Given the description of an element on the screen output the (x, y) to click on. 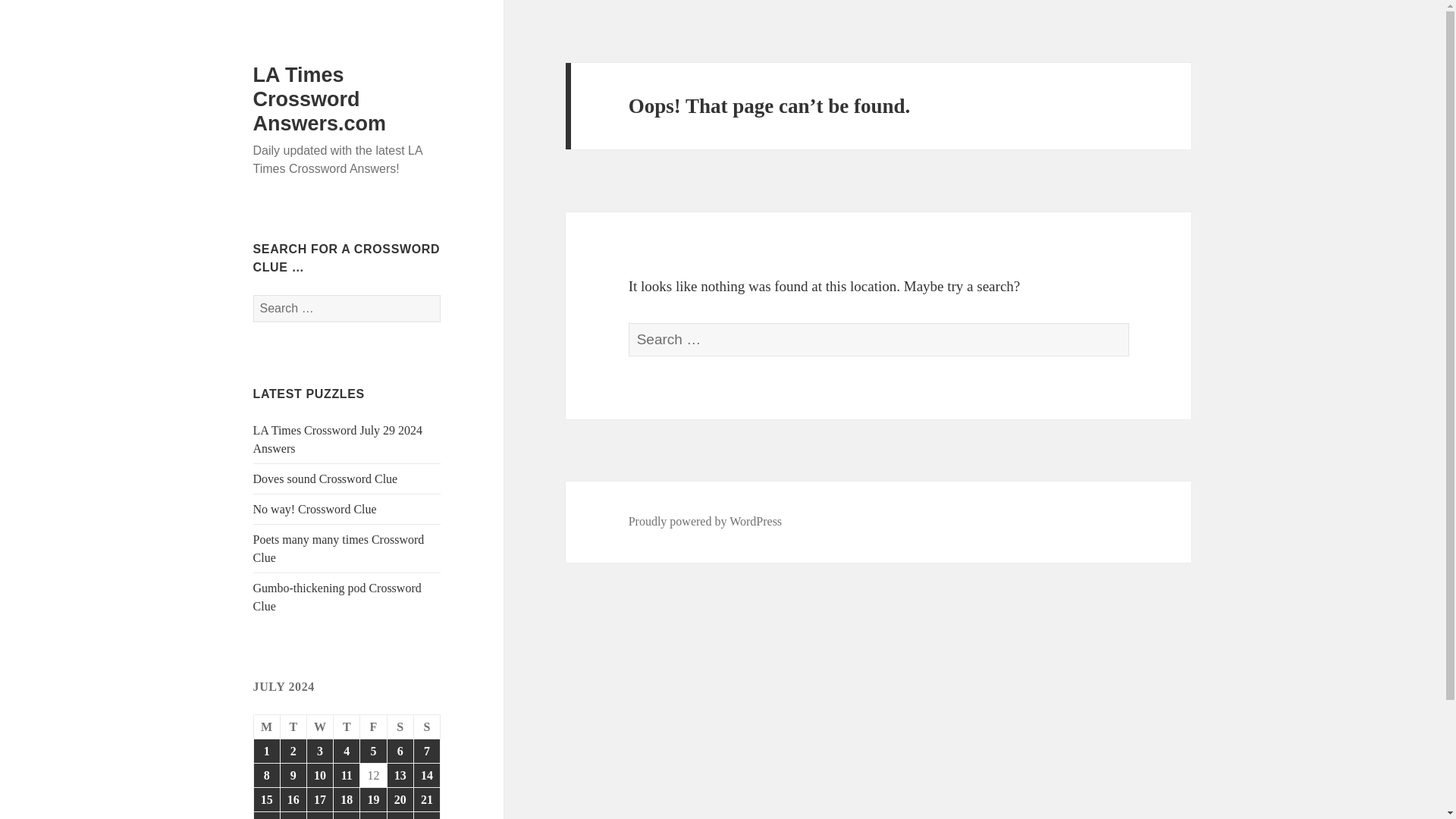
LA Times Crossword Answers.com (320, 99)
16 (293, 799)
21 (426, 799)
5 (372, 750)
24 (320, 815)
Wednesday (320, 726)
18 (346, 799)
Sunday (427, 726)
Proudly powered by WordPress (704, 521)
LA Times Crossword July 29 2024 Answers (338, 439)
Saturday (400, 726)
Doves sound Crossword Clue (325, 478)
20 (400, 799)
3 (320, 750)
